Given the description of an element on the screen output the (x, y) to click on. 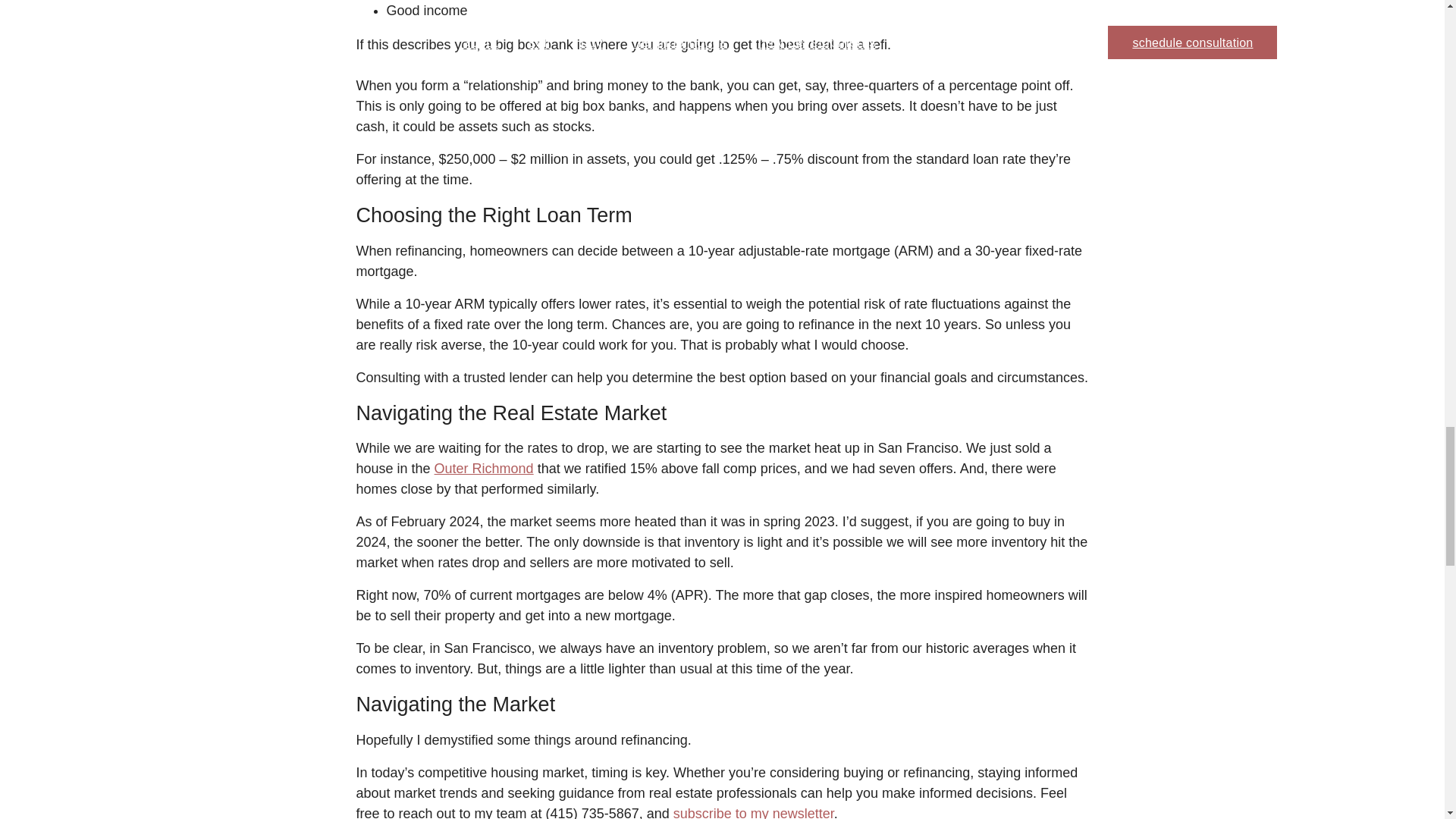
Outer Richmond (483, 468)
subscribe to my newsletter (753, 812)
